Given the description of an element on the screen output the (x, y) to click on. 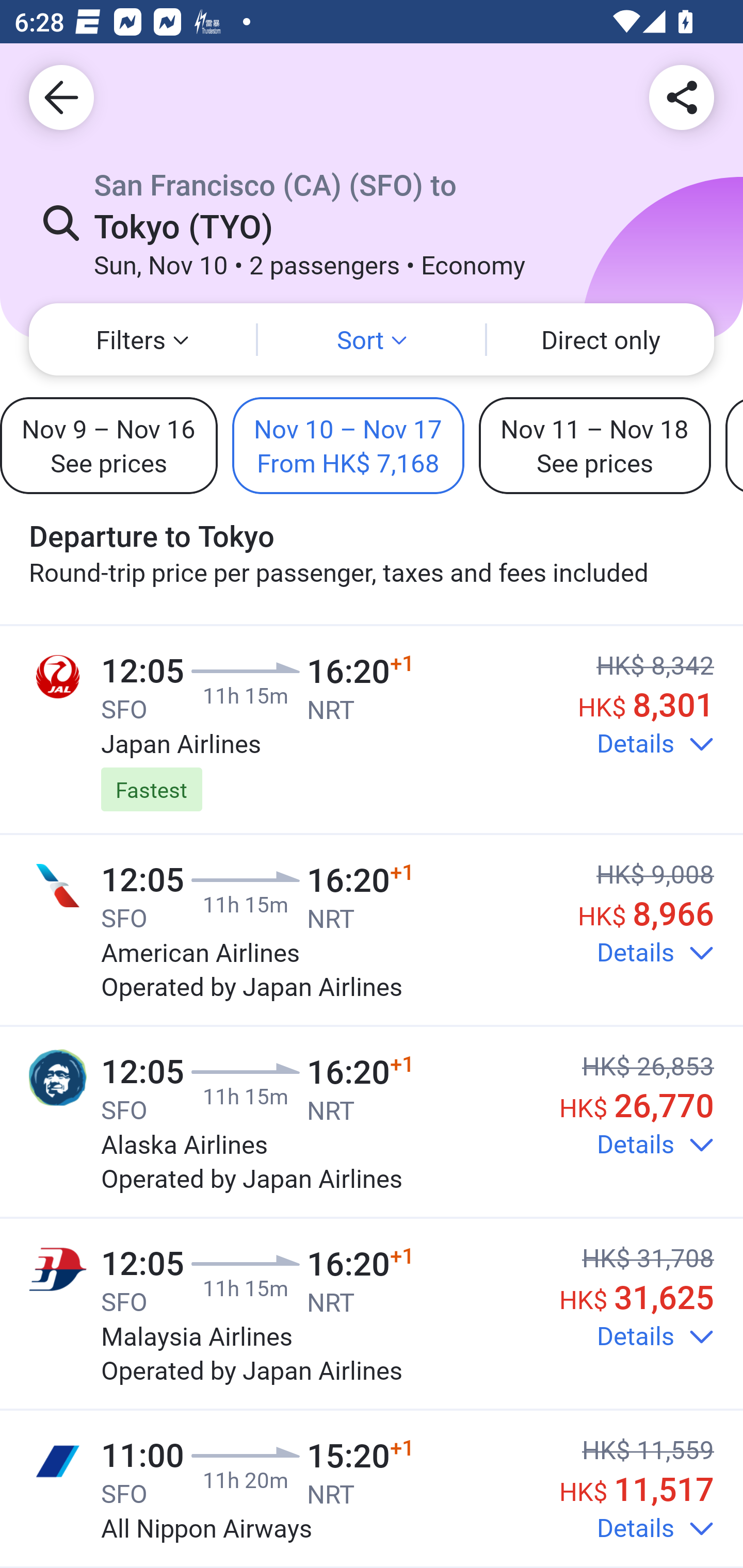
Filters (141, 339)
Sort (371, 339)
Direct only (600, 339)
Nov 9 – Nov 16 See prices (108, 444)
Nov 10 – Nov 17 From HK$ 7,168 (347, 444)
Nov 11 – Nov 18 See prices (594, 444)
